Given the description of an element on the screen output the (x, y) to click on. 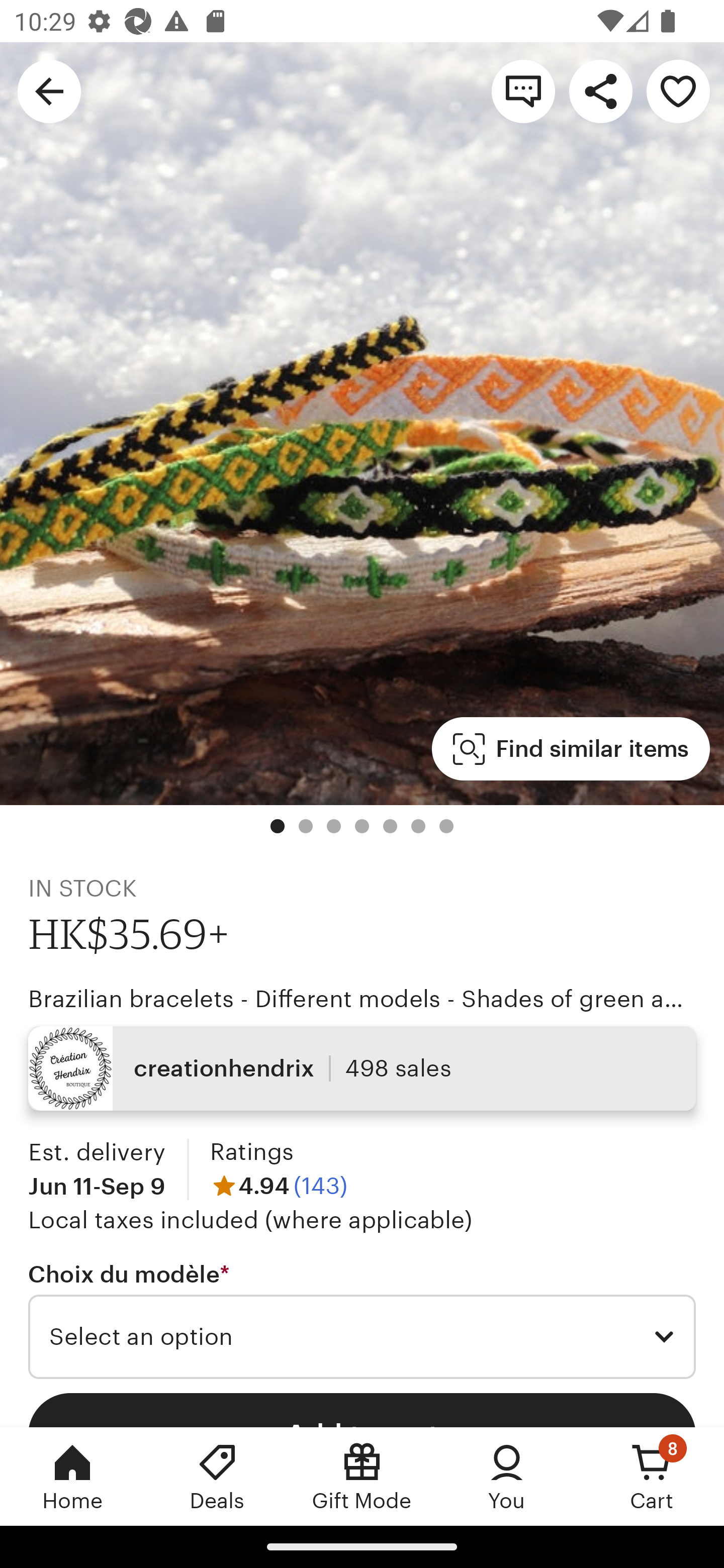
Navigate up (49, 90)
Contact shop (523, 90)
Share (600, 90)
Find similar items (571, 748)
creationhendrix 498 sales (361, 1067)
Ratings (251, 1151)
4.94 (143) (278, 1185)
Choix du modèle * Required Select an option (361, 1319)
Select an option (361, 1336)
Deals (216, 1475)
Gift Mode (361, 1475)
You (506, 1475)
Cart, 8 new notifications Cart (651, 1475)
